Given the description of an element on the screen output the (x, y) to click on. 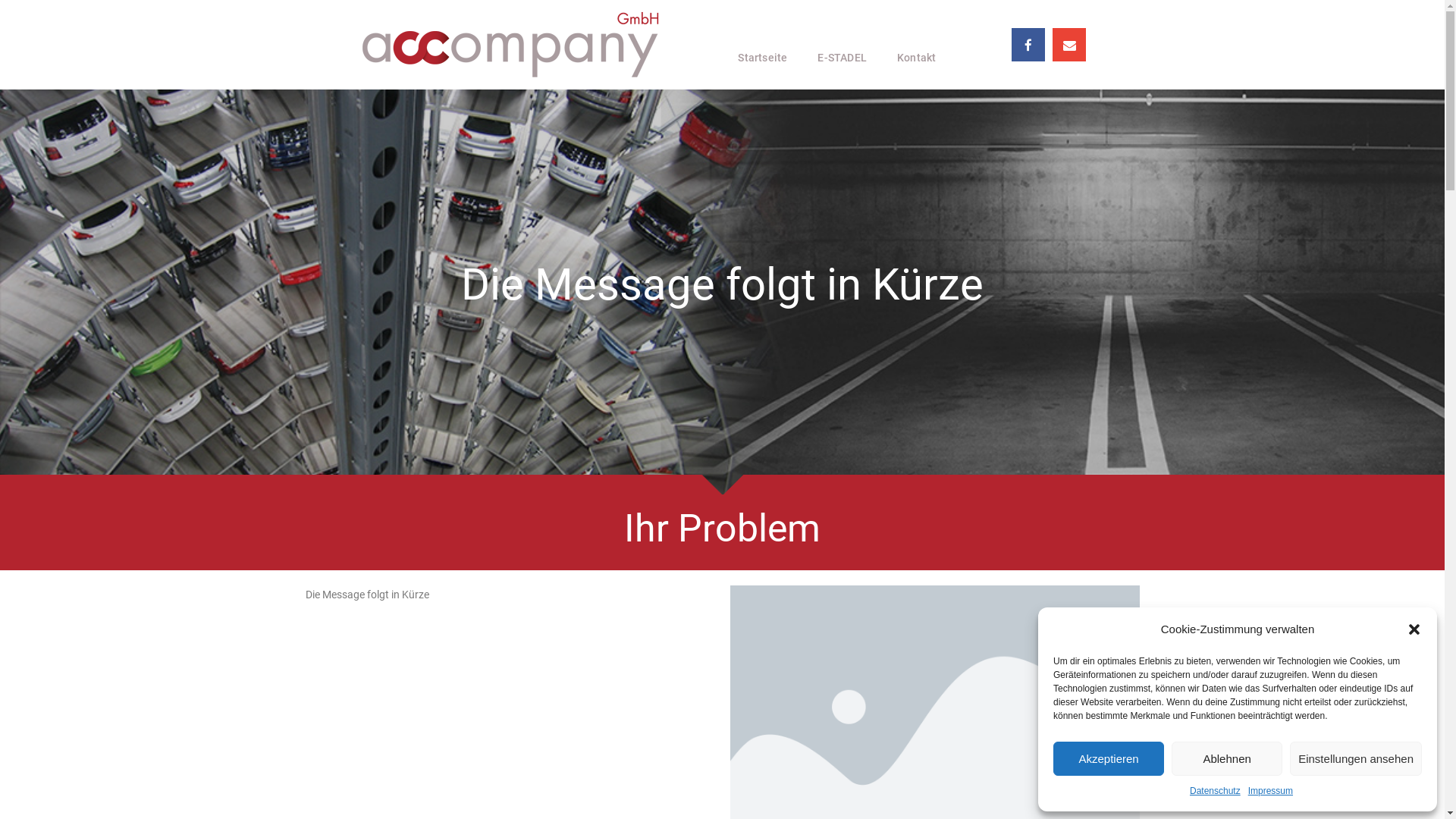
Ablehnen Element type: text (1226, 758)
Kontakt Element type: text (915, 57)
Einstellungen ansehen Element type: text (1355, 758)
Impressum Element type: text (1270, 791)
Akzeptieren Element type: text (1108, 758)
E-STADEL Element type: text (841, 57)
Ihr Problem Element type: text (722, 528)
Startseite Element type: text (762, 57)
Datenschutz Element type: text (1214, 791)
